Given the description of an element on the screen output the (x, y) to click on. 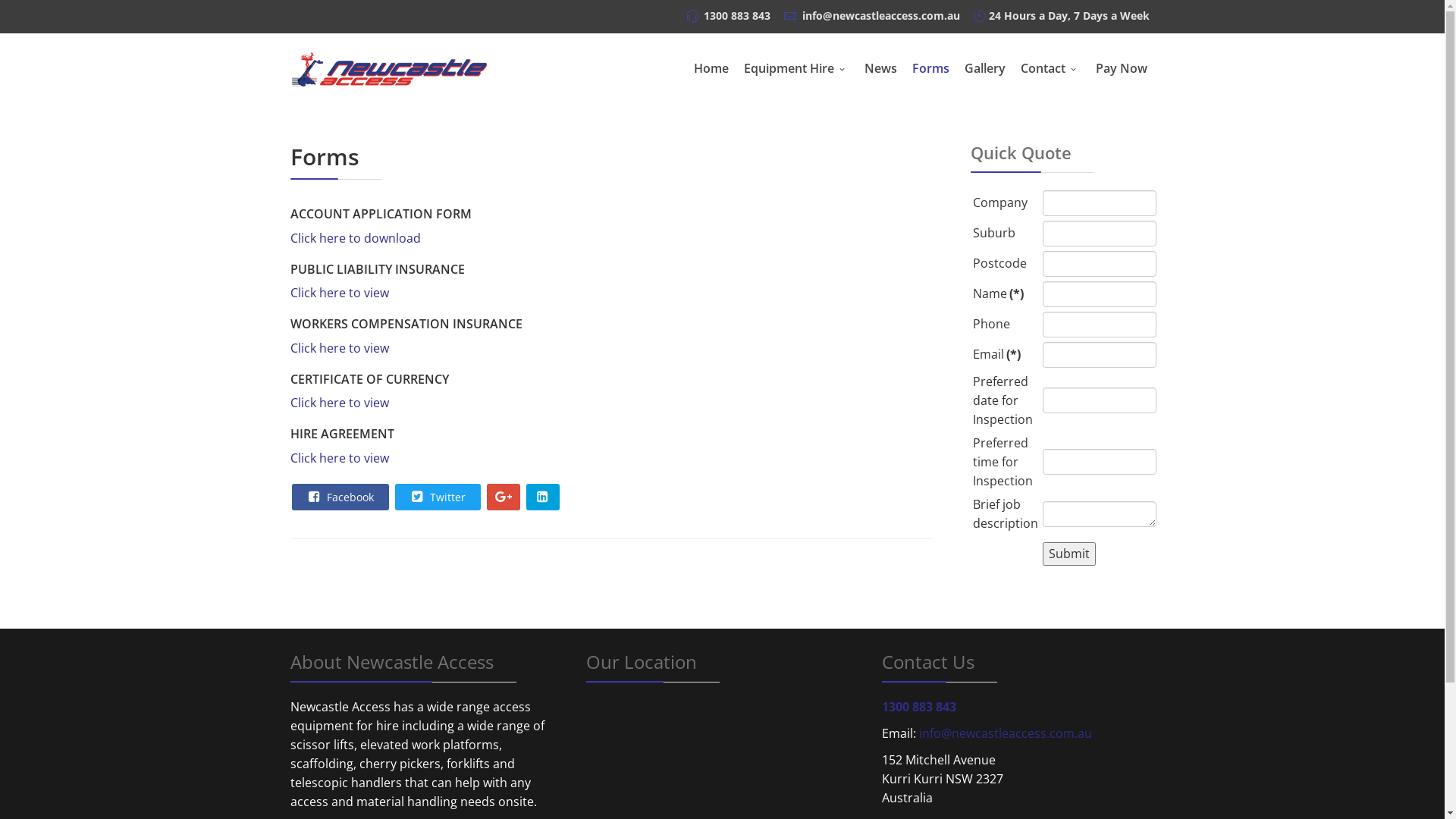
Click here to view Element type: text (338, 292)
Twitter Element type: text (437, 496)
Home Element type: text (710, 68)
Click here to view Element type: text (338, 457)
info@newcastleaccess.com.au Element type: text (1005, 732)
Submit Element type: text (1068, 553)
Click here to view Element type: text (338, 347)
Equipment Hire Element type: text (795, 68)
Click here to download Element type: text (354, 237)
News Element type: text (880, 68)
Forms Element type: text (929, 68)
Contact Element type: text (1050, 68)
Click here to view Element type: text (338, 402)
Facebook Element type: text (339, 496)
1300 883 843 Element type: text (918, 706)
info@newcastleaccess.com.au Element type: text (881, 15)
Pay Now Element type: text (1120, 68)
1300 883 843 Element type: text (736, 15)
Gallery Element type: text (985, 68)
